Given the description of an element on the screen output the (x, y) to click on. 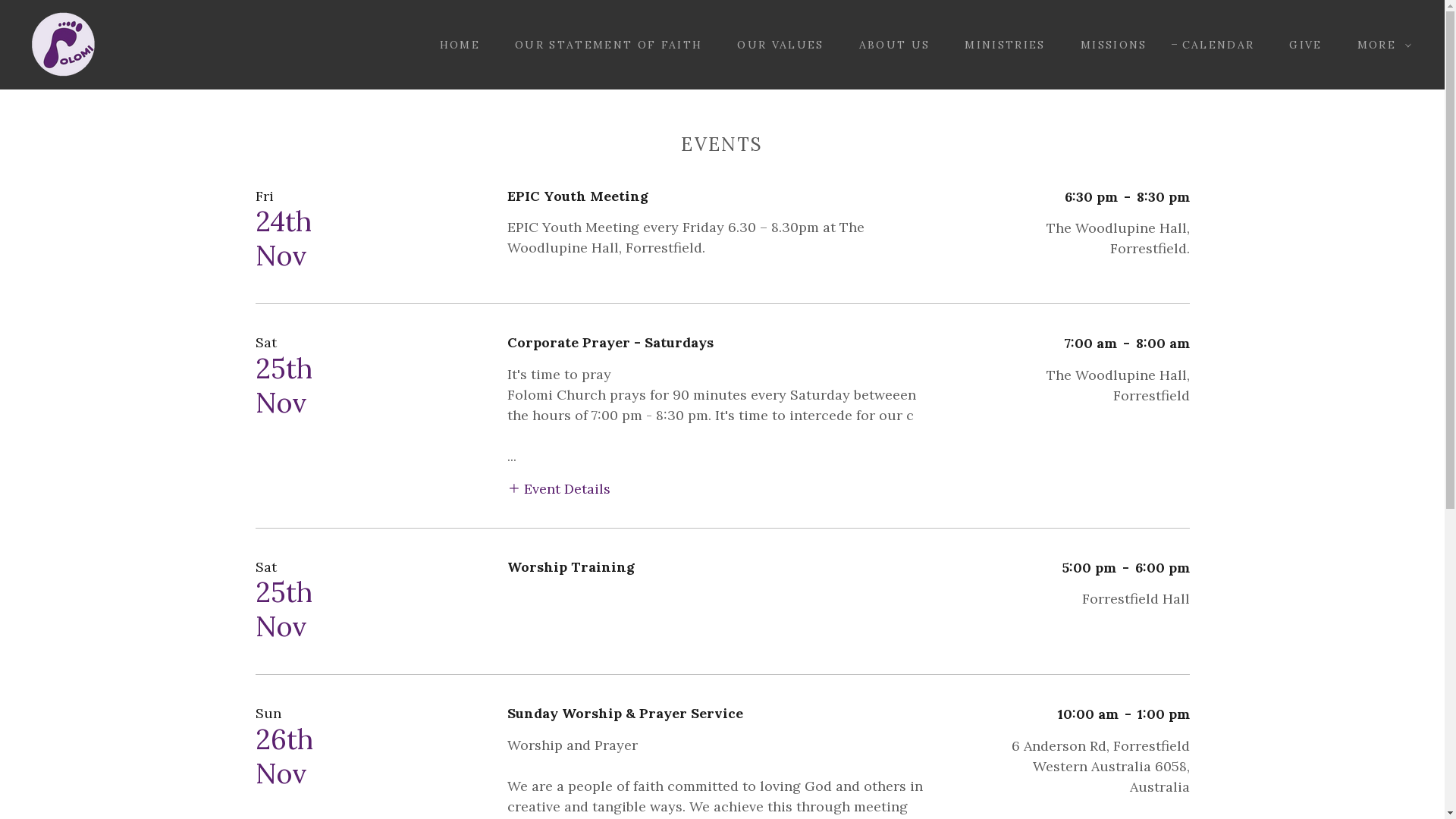
MORE Element type: text (1380, 44)
OUR VALUES Element type: text (774, 44)
MINISTRIES Element type: text (999, 44)
ABOUT US Element type: text (889, 44)
GIVE Element type: text (1300, 44)
MISSIONS Element type: text (1108, 44)
Fount of life outreach ministrieS INC Element type: hover (62, 43)
CALENDAR Element type: text (1213, 44)
HOME Element type: text (454, 44)
OUR STATEMENT OF FAITH Element type: text (602, 44)
